Given the description of an element on the screen output the (x, y) to click on. 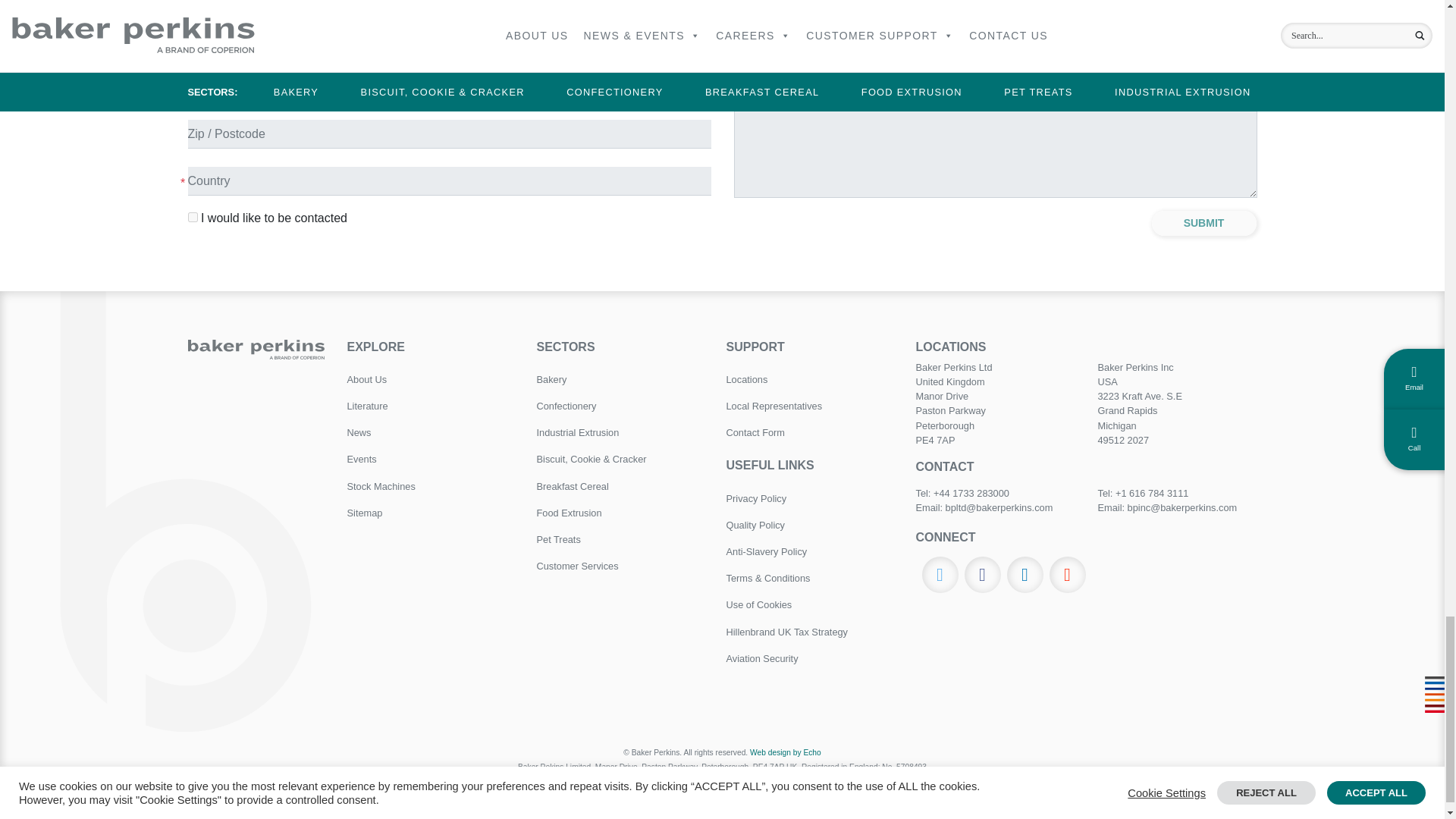
Sitemap (430, 512)
About Us (430, 379)
1 (192, 216)
Confectionery (620, 406)
Stock Machines (430, 486)
Bakery (620, 379)
Submit (1204, 222)
Literature (430, 406)
Events (430, 458)
News (430, 432)
